Given the description of an element on the screen output the (x, y) to click on. 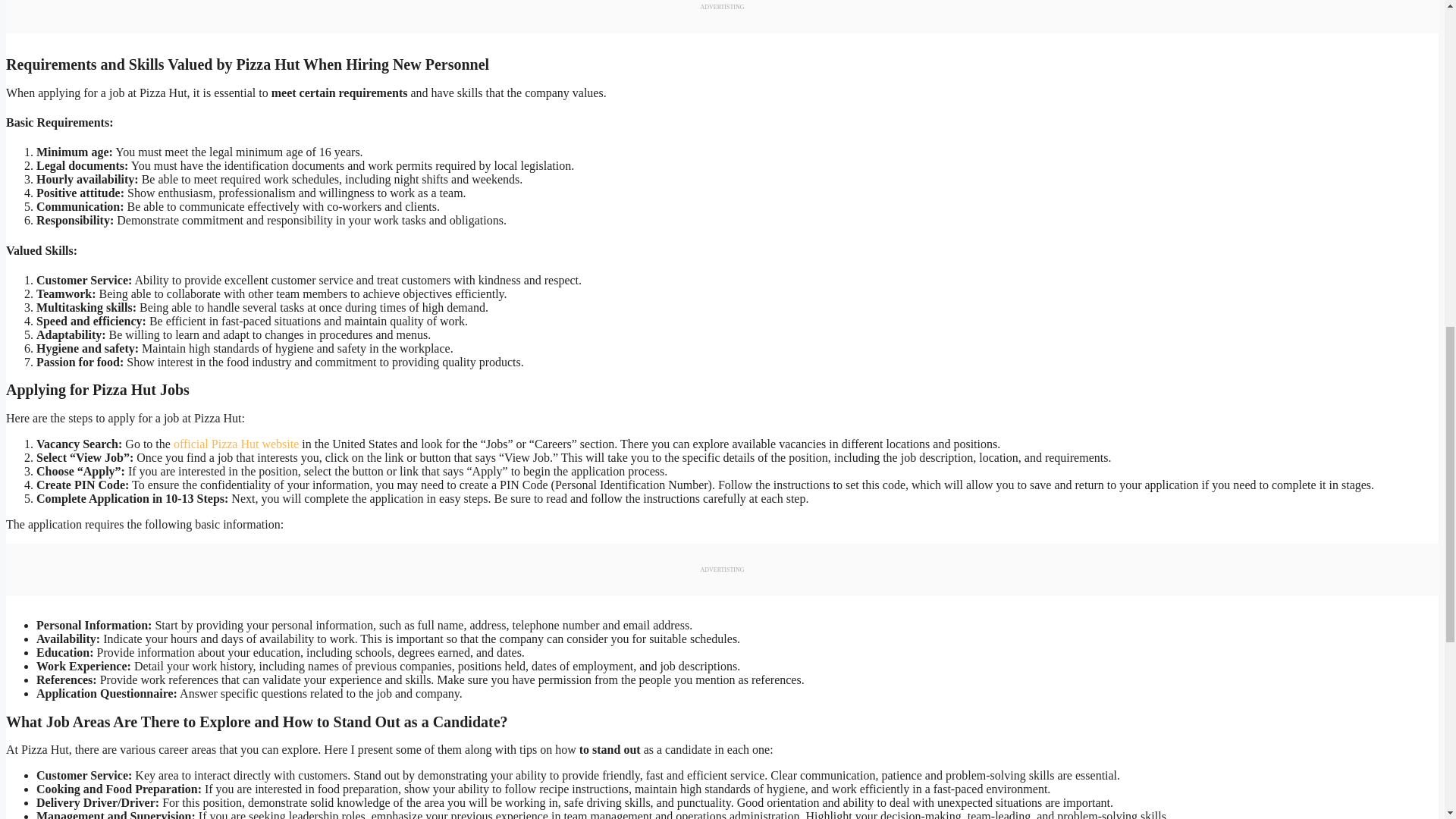
official Pizza Hut website (235, 443)
